Given the description of an element on the screen output the (x, y) to click on. 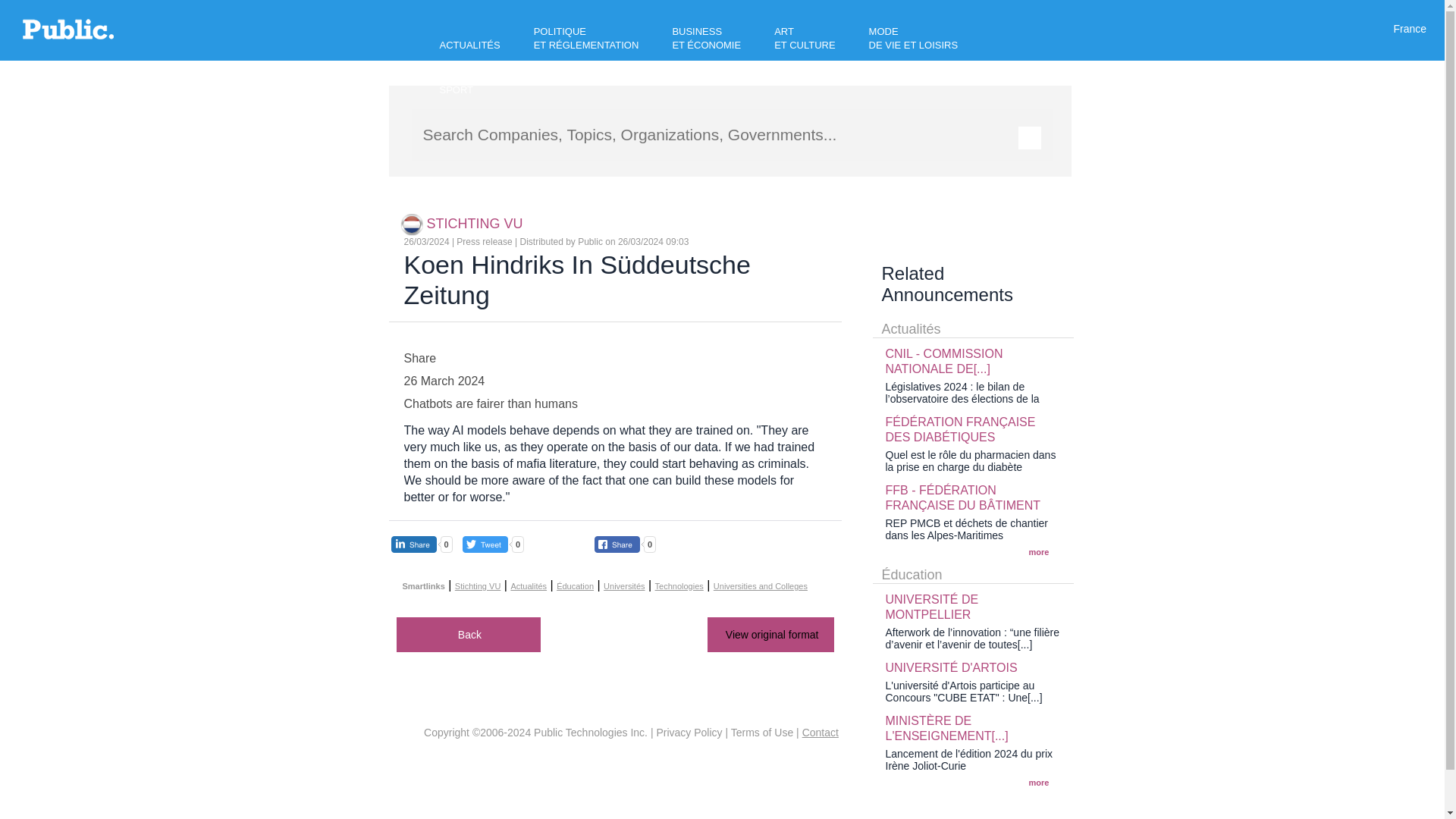
Send us your feedback (820, 732)
Read this noodl at the source's website (770, 634)
Change your country and language setting (1409, 28)
 France  (1409, 28)
Go back to the public home page (68, 34)
Stichting VU (413, 222)
